Given the description of an element on the screen output the (x, y) to click on. 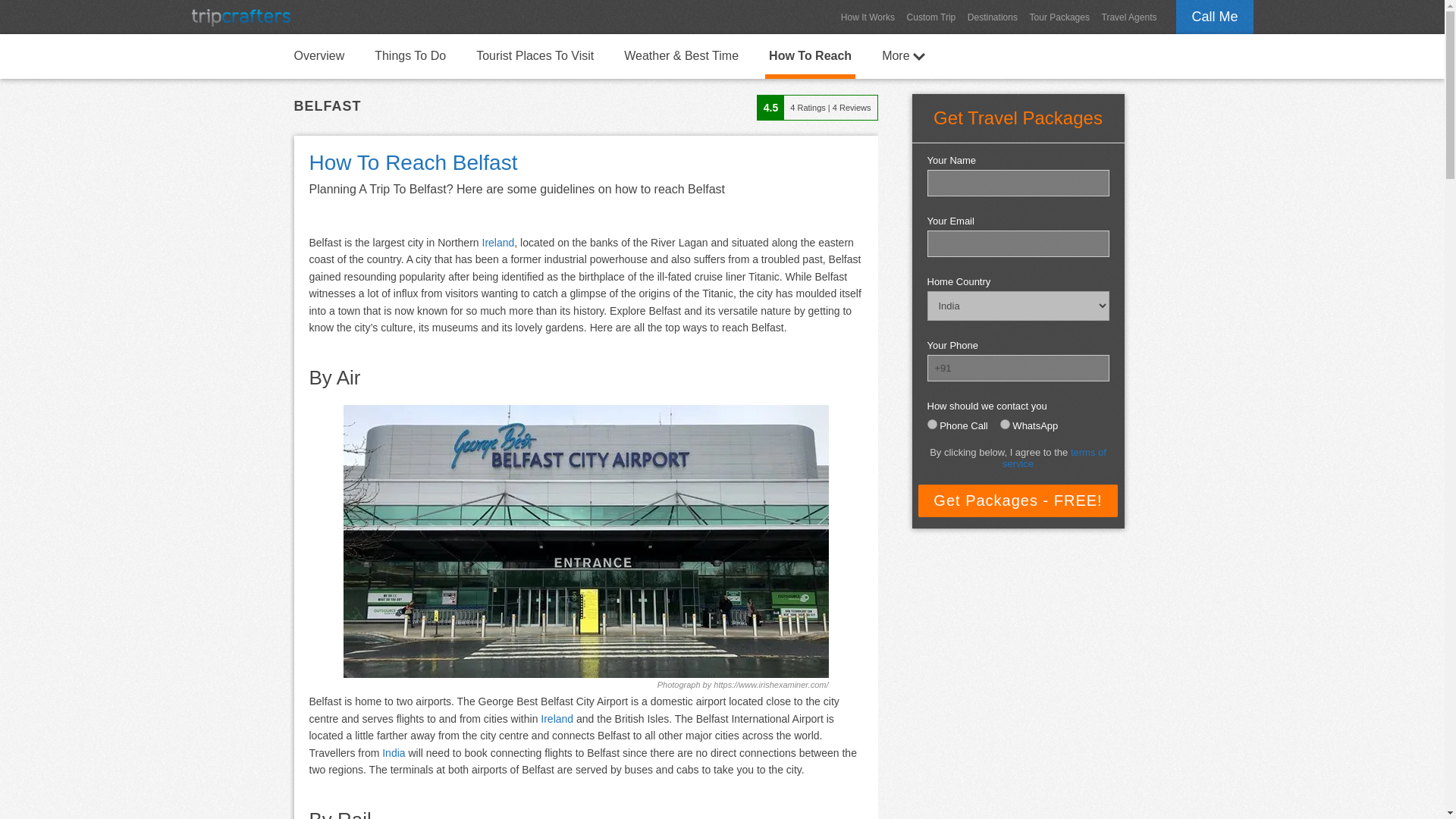
How To Reach Belfast (810, 56)
Travel Agents (1129, 17)
Get Packages - FREE! (1017, 500)
Tour Packages (1059, 17)
Tourist Places To Visit In Belfast (533, 54)
Overview (318, 54)
TripCrafters.com (239, 17)
By Air:  How To Reach Belfast (585, 541)
Destinations (992, 17)
How It Works (867, 17)
Call Me (1214, 17)
Ireland (556, 718)
More (902, 54)
terms of service (1054, 457)
Things To Do In Belfast (410, 54)
